Given the description of an element on the screen output the (x, y) to click on. 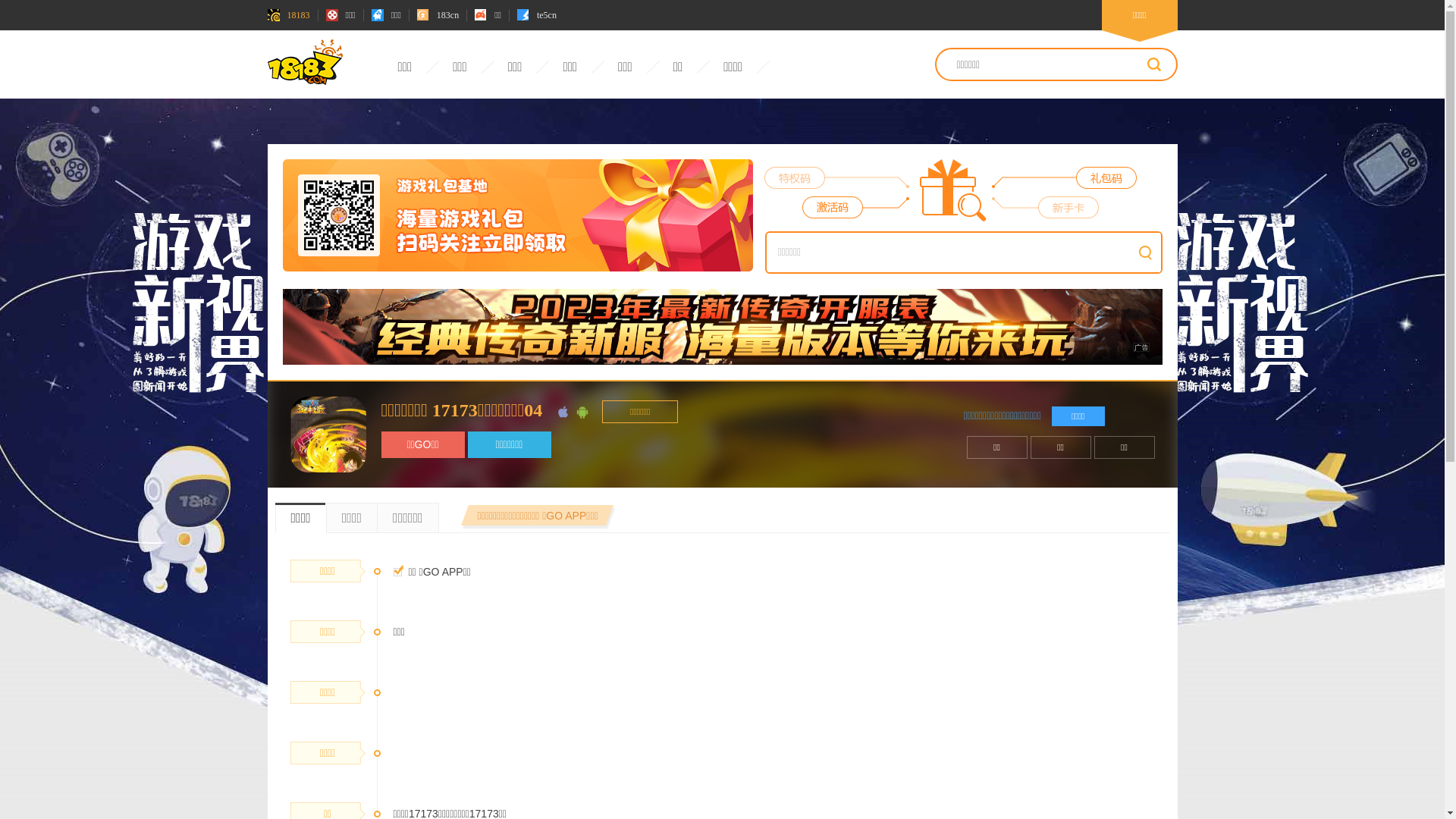
18183 Element type: text (287, 14)
te5cn Element type: text (536, 14)
183cn Element type: text (437, 14)
